Given the description of an element on the screen output the (x, y) to click on. 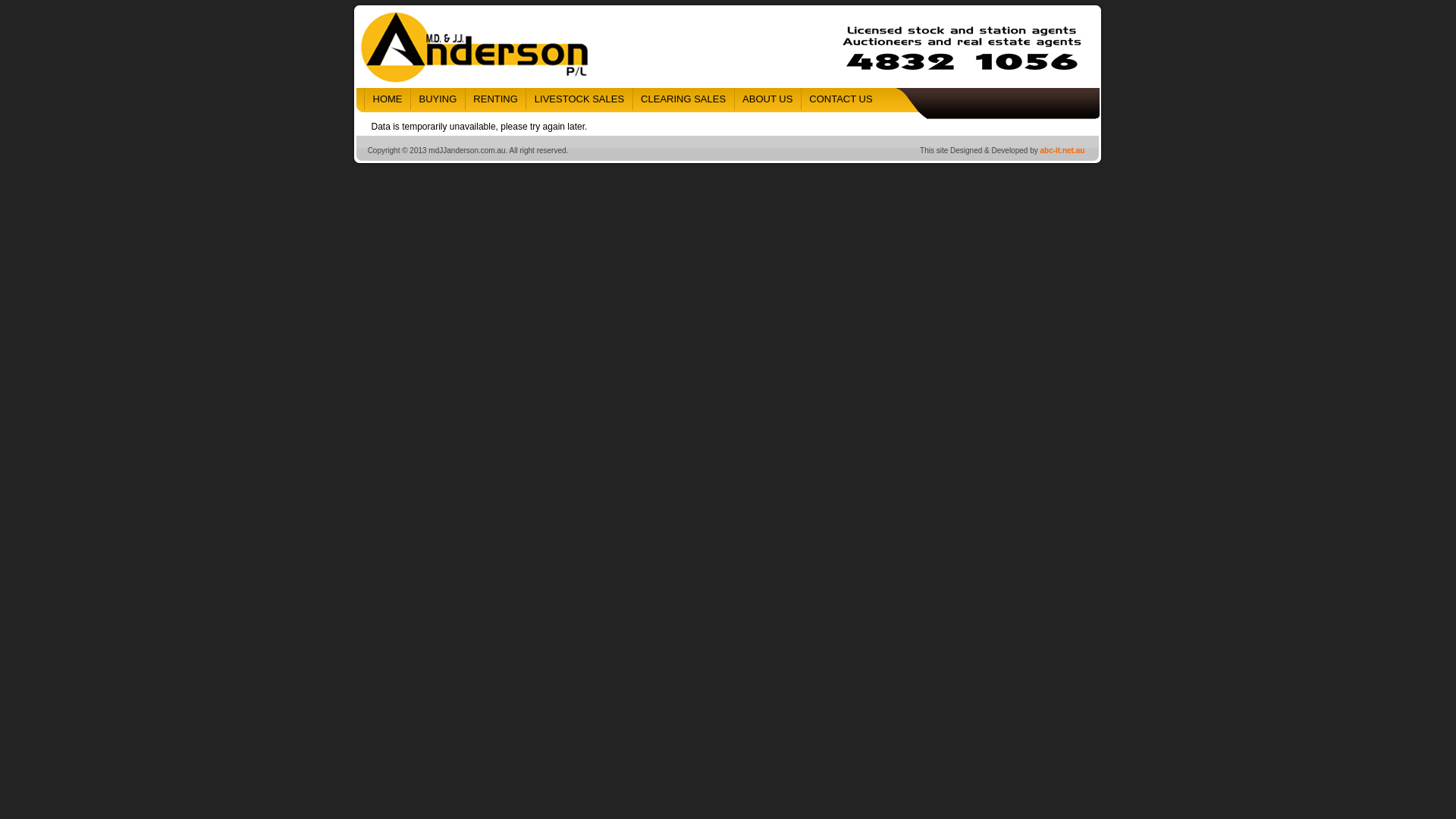
abc-it.net.au Element type: text (1061, 150)
LIVESTOCK SALES Element type: text (578, 98)
ABOUT US Element type: text (767, 98)
RENTING Element type: text (495, 98)
BUYING Element type: text (437, 98)
CLEARING SALES Element type: text (683, 98)
CONTACT US Element type: text (840, 98)
HOME Element type: text (387, 98)
